Given the description of an element on the screen output the (x, y) to click on. 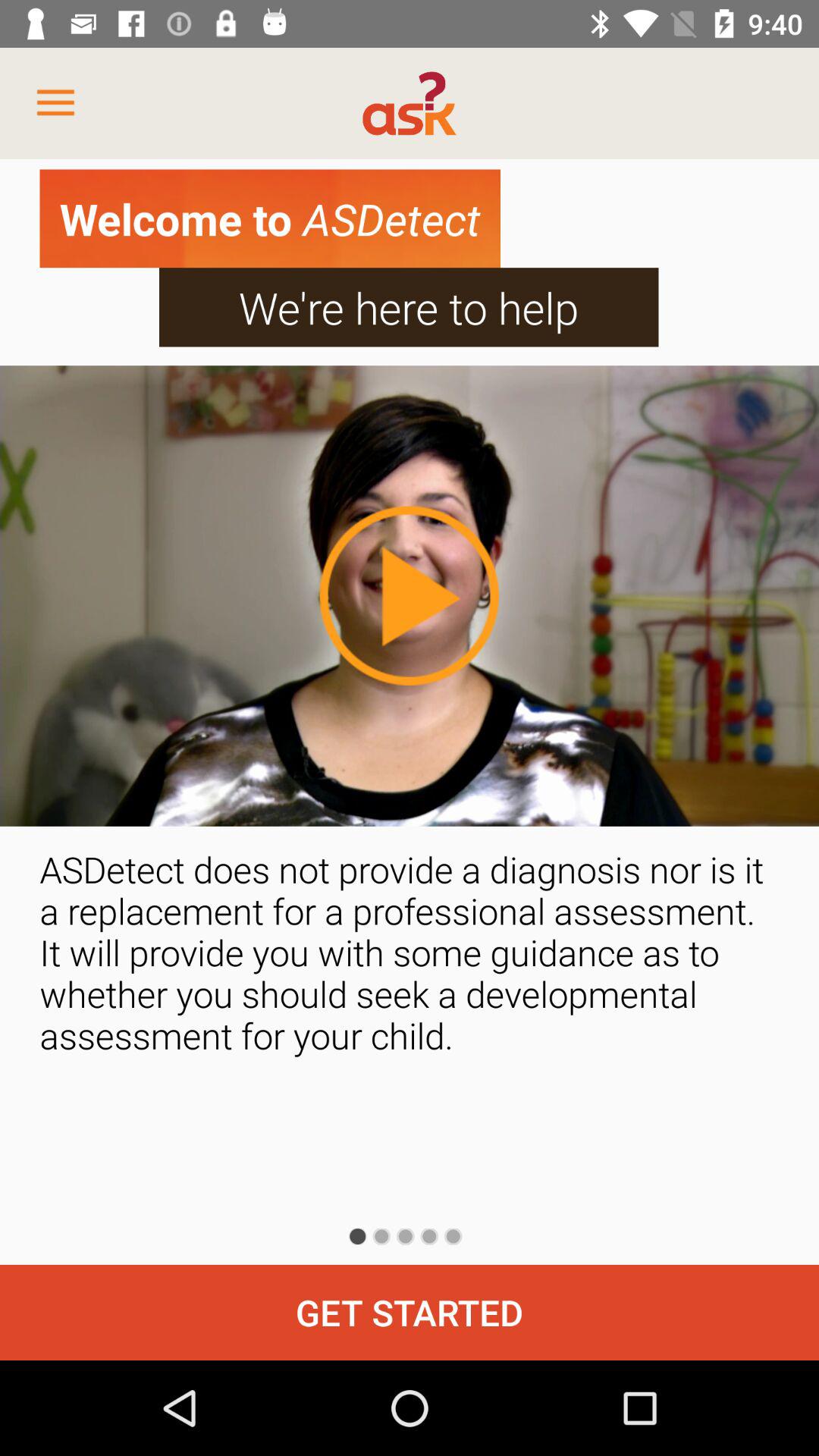
go to play (408, 595)
